Given the description of an element on the screen output the (x, y) to click on. 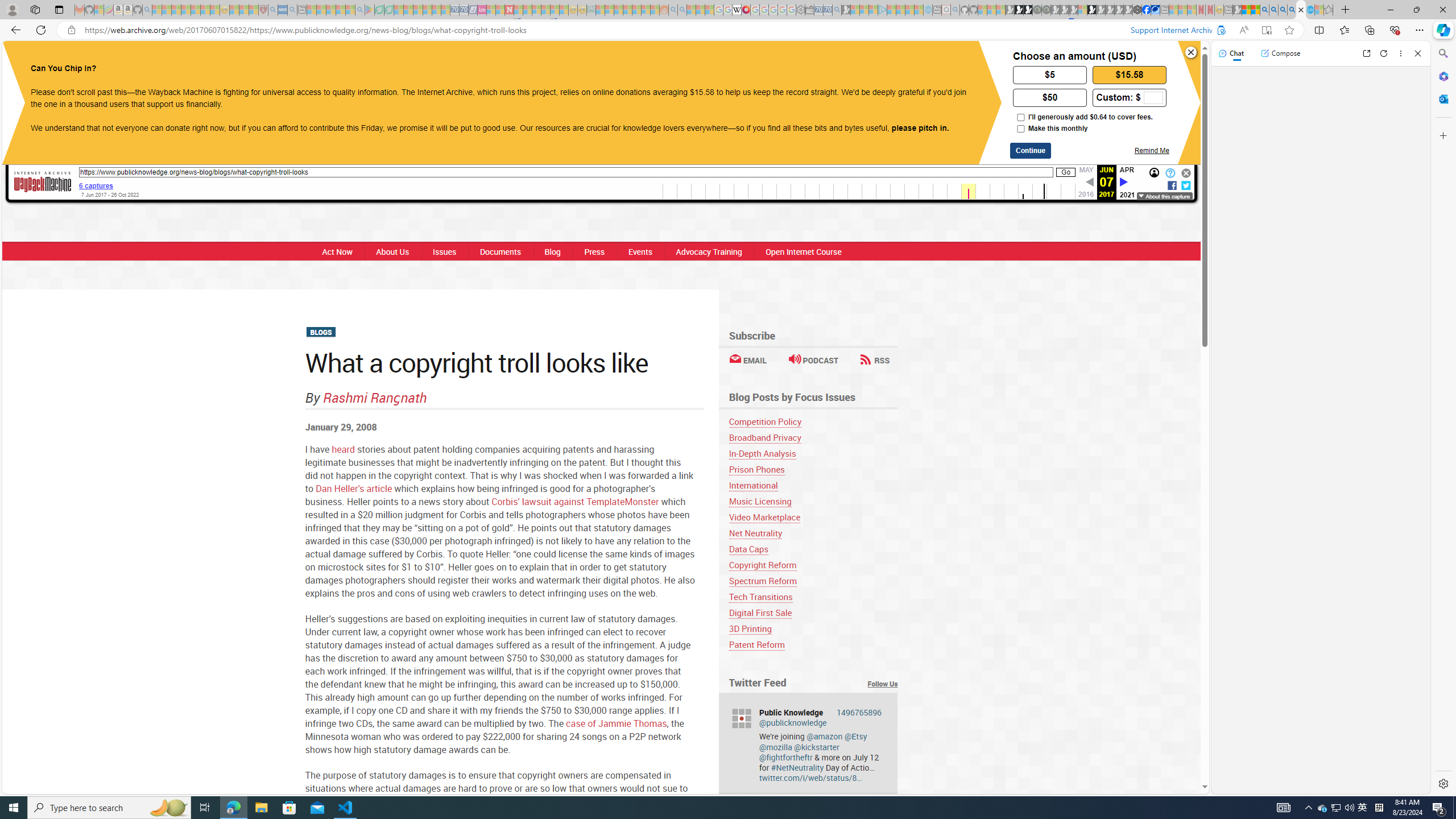
BLOGS (320, 332)
1496765896 (859, 712)
Press (594, 251)
Public Knowledge @publicknowledge (820, 717)
Open the menu (446, 61)
Spectrum Reform (813, 580)
What a copyright troll looks like - Public Knowledge (1300, 9)
Video Marketplace (813, 517)
Expert Portfolios - Sleeping (627, 9)
FACEBOOK (647, 60)
